Given the description of an element on the screen output the (x, y) to click on. 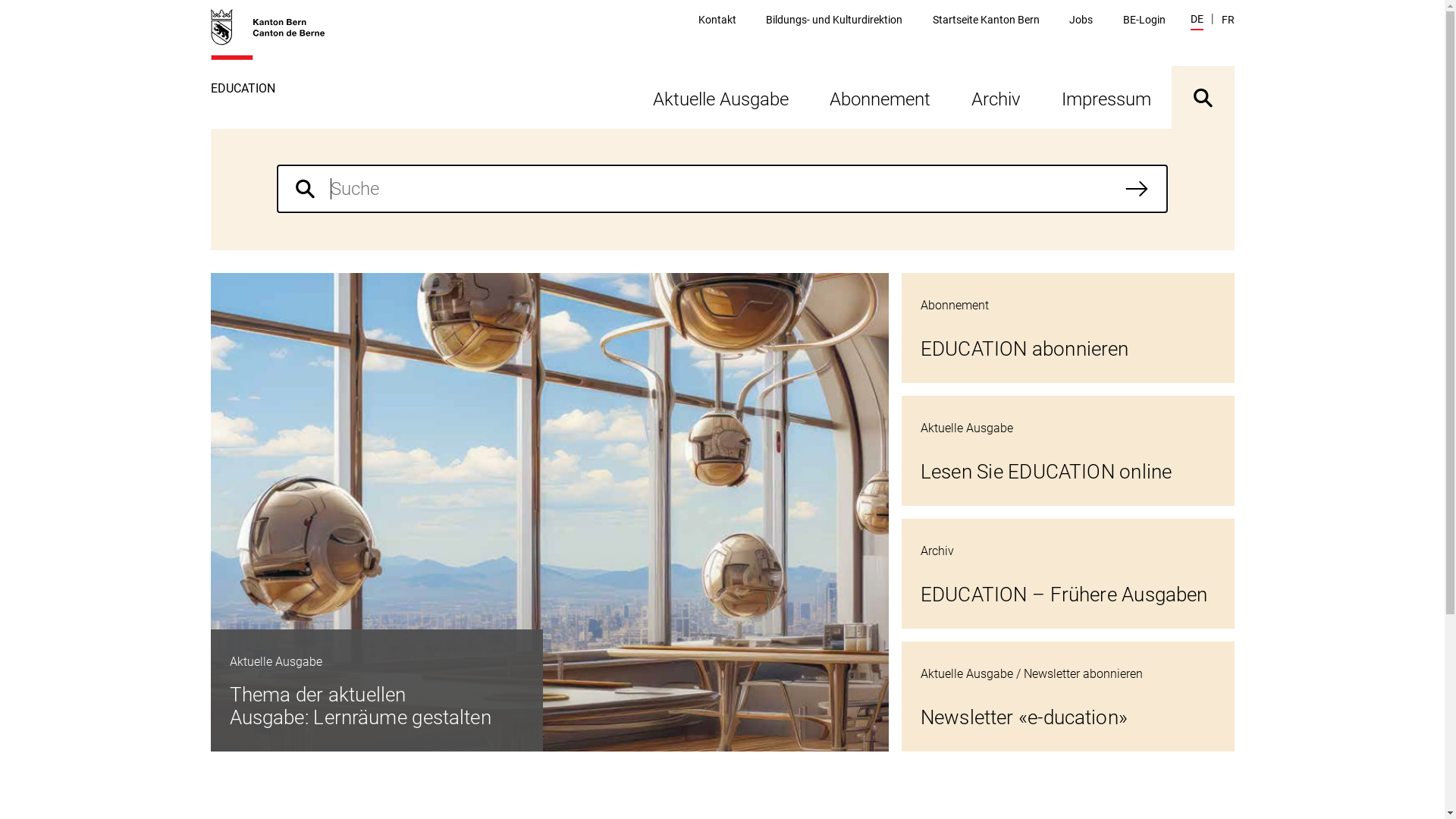
EDUCATION Element type: text (275, 68)
EDUCATION abonnieren
Abonnement Element type: text (1067, 327)
Impressum Element type: text (1105, 96)
Suchen Element type: text (1136, 188)
Aktuelle Ausgabe Element type: text (720, 96)
FR Element type: text (1226, 19)
BE-Login Element type: text (1144, 19)
Kontakt Element type: text (717, 19)
Lesen Sie EDUCATION online
Aktuelle Ausgabe Element type: text (1067, 450)
Archiv Element type: text (995, 96)
Abonnement Element type: text (879, 96)
Bildungs- und Kulturdirektion Element type: text (833, 19)
DE Element type: text (1196, 21)
Jobs Element type: text (1080, 19)
Suche ein- oder ausblenden Element type: text (1201, 96)
Startseite Kanton Bern Element type: text (985, 19)
